Given the description of an element on the screen output the (x, y) to click on. 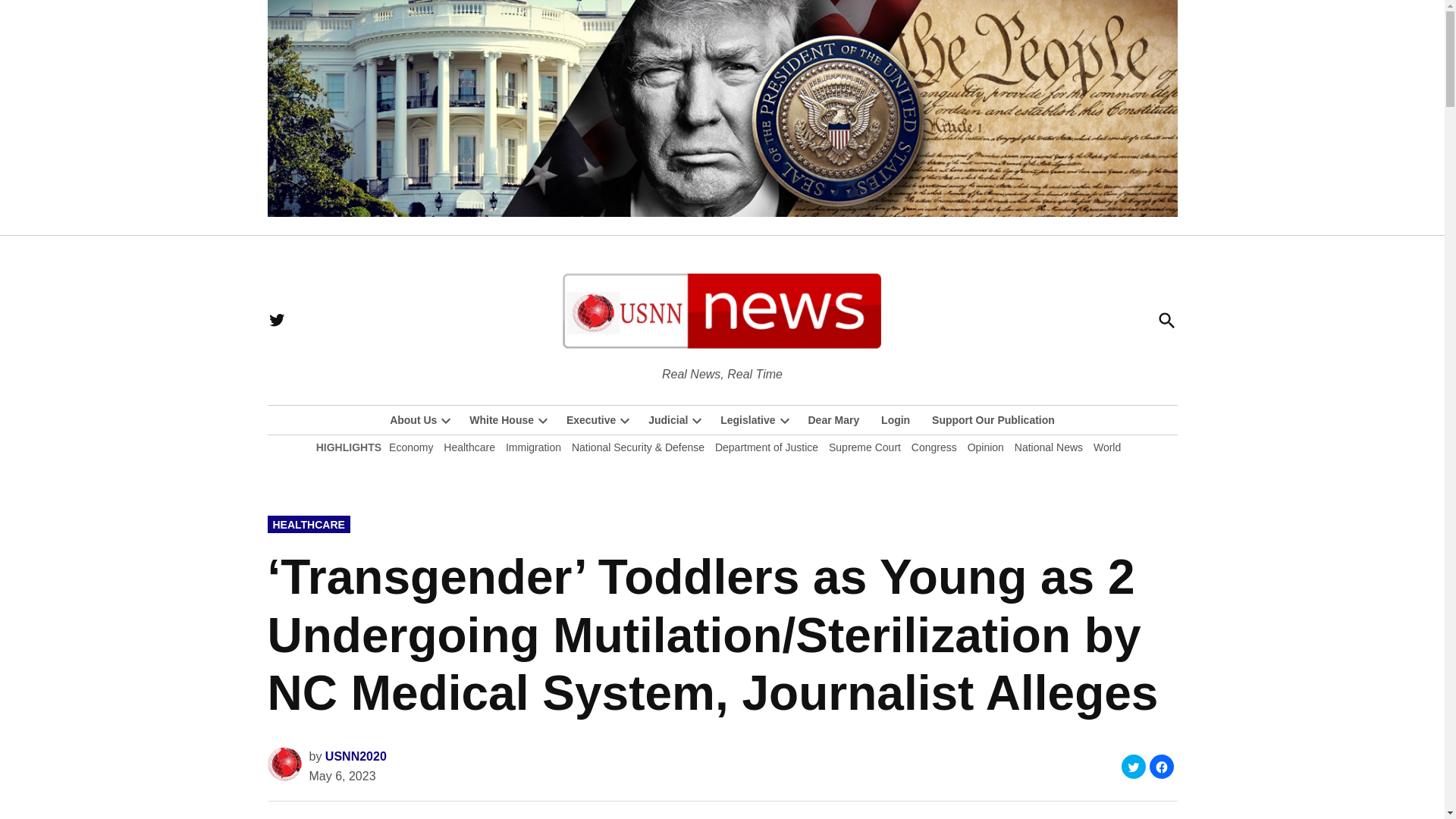
Click to share on Facebook (1161, 766)
Twitter (275, 320)
About Us (413, 419)
Click to share on Twitter (1132, 766)
Executive (587, 419)
White House (497, 419)
USNN World News (815, 373)
Open dropdown menu (542, 419)
Open dropdown menu (445, 419)
Open dropdown menu (624, 419)
